Given the description of an element on the screen output the (x, y) to click on. 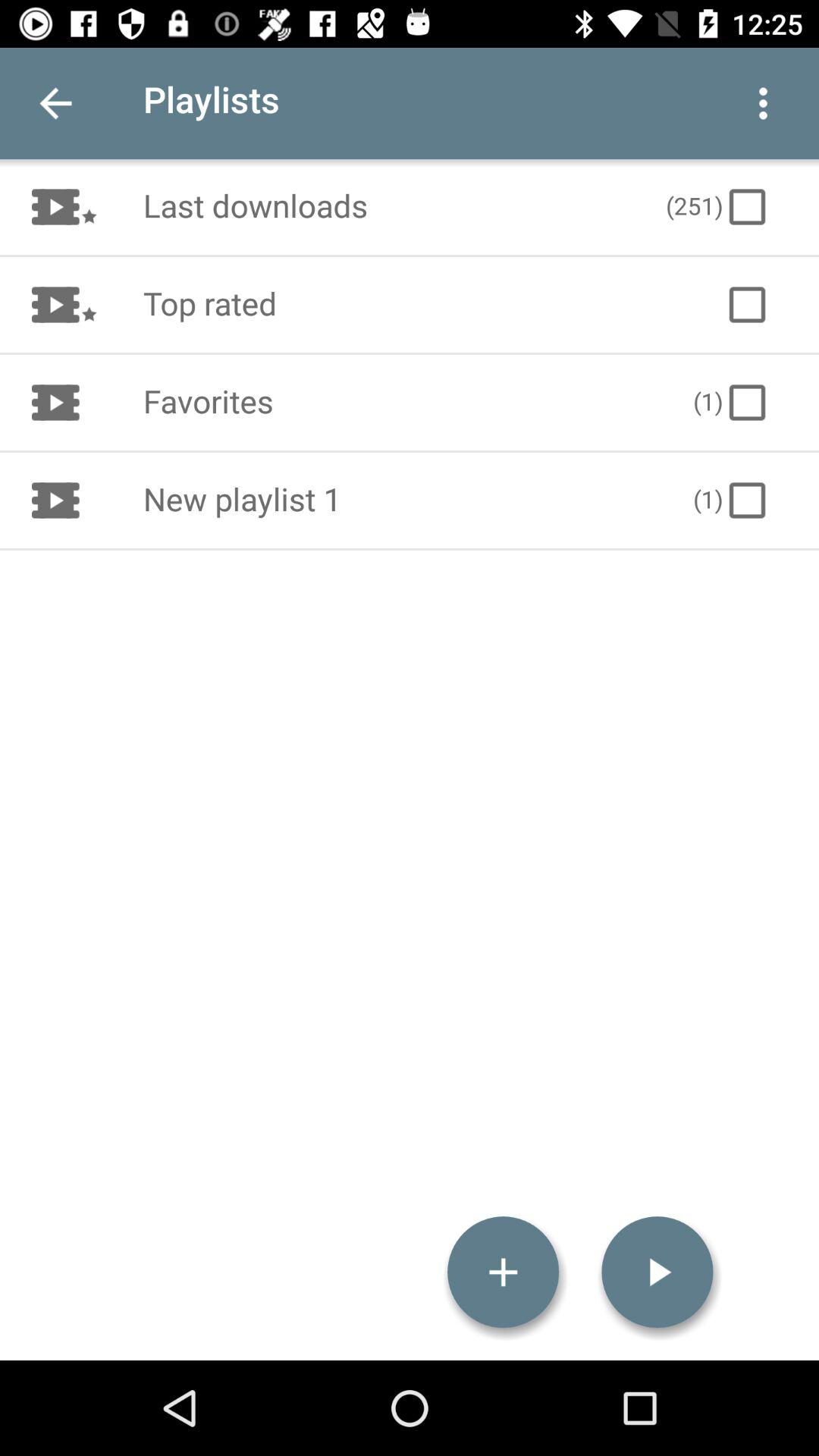
turn off the new playlist 1 (402, 500)
